Given the description of an element on the screen output the (x, y) to click on. 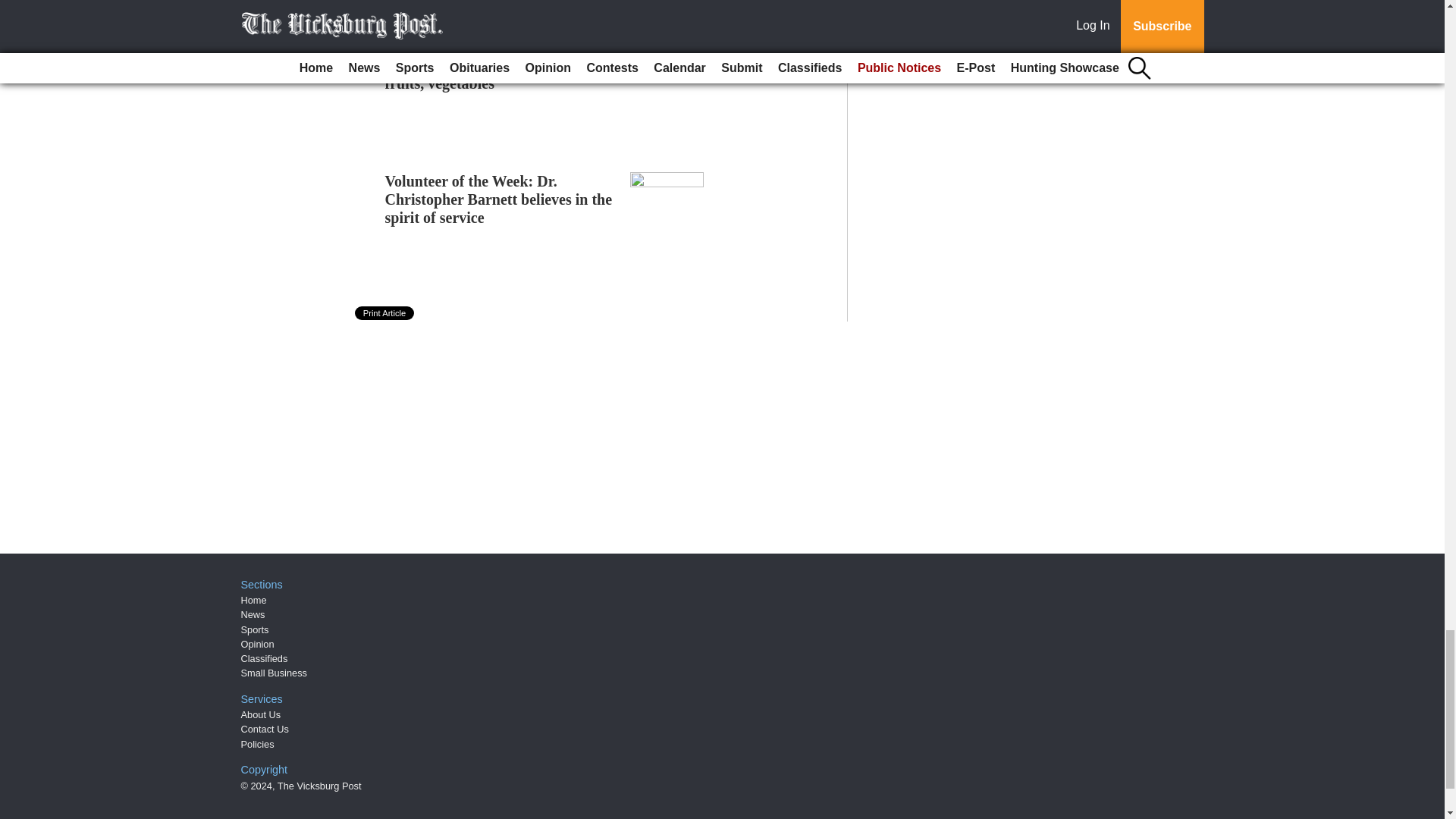
Print Article (384, 313)
